Given the description of an element on the screen output the (x, y) to click on. 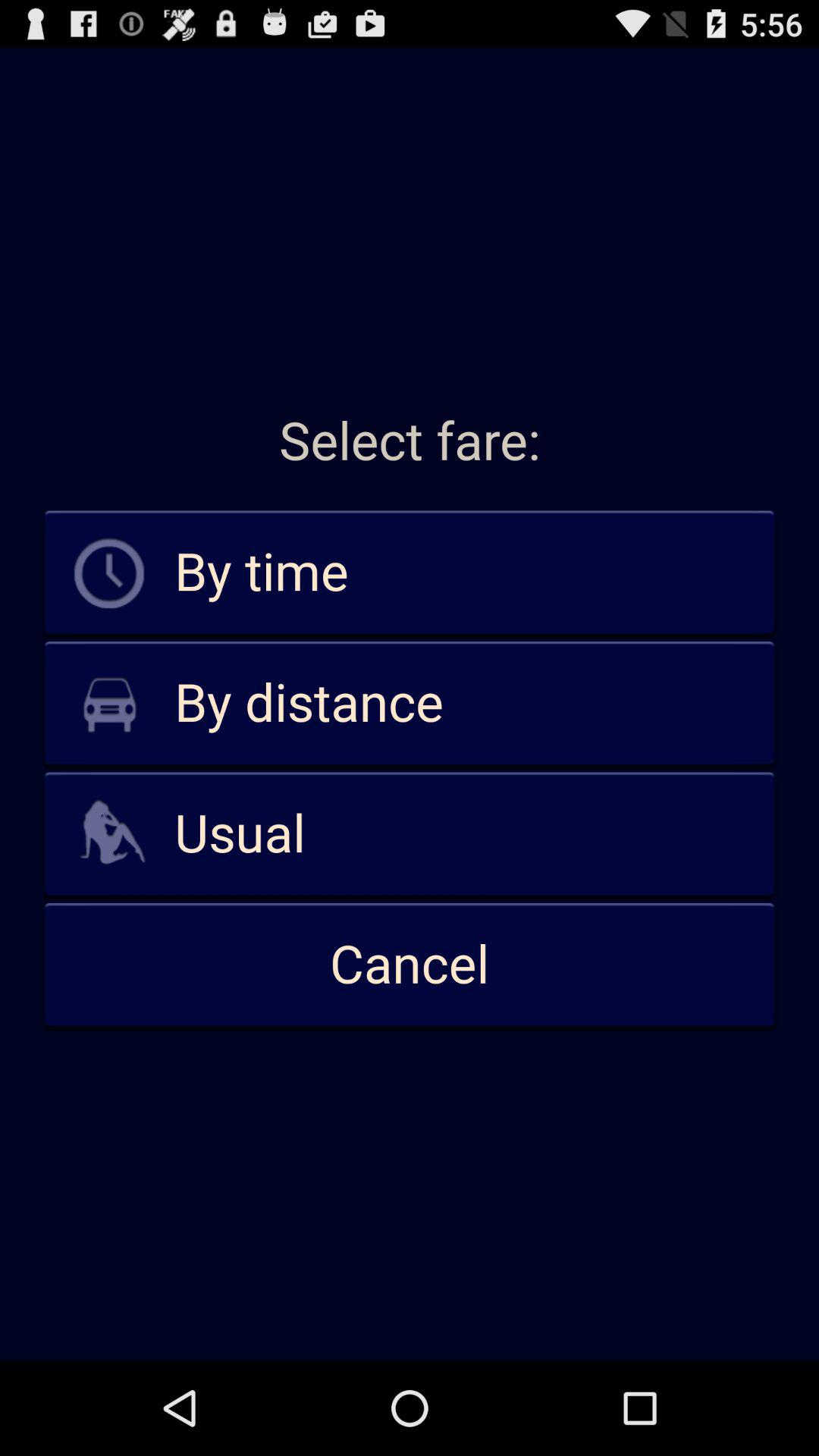
scroll until by time (409, 572)
